Given the description of an element on the screen output the (x, y) to click on. 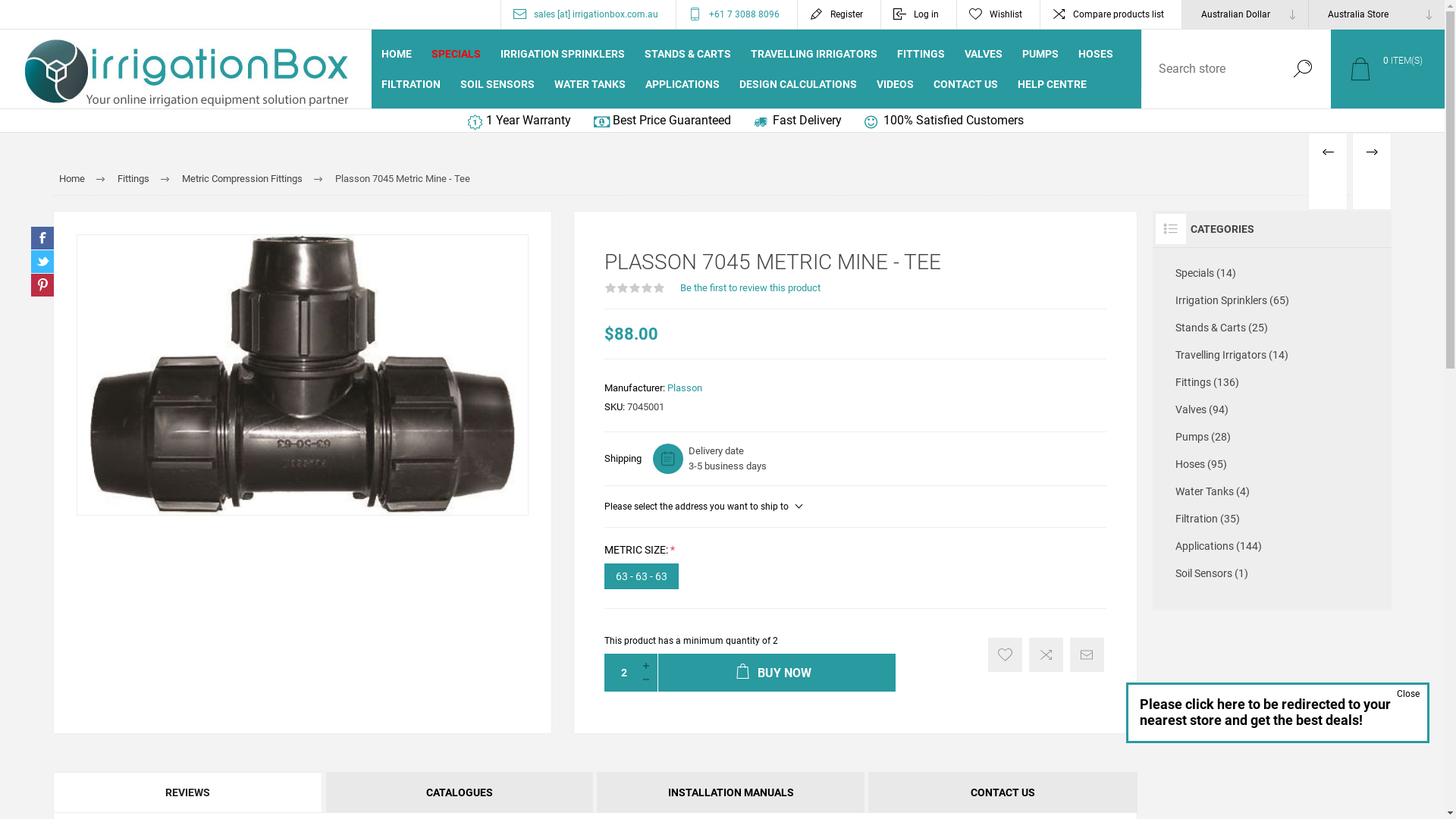
HOME Element type: text (396, 53)
Plasson 7045 Metric Mine - Tee Element type: hover (302, 374)
SPECIALS Element type: text (455, 53)
0 ITEM(S) Element type: text (1387, 68)
APPLICATIONS Element type: text (682, 84)
SOIL SENSORS Element type: text (497, 84)
REVIEWS Element type: text (187, 791)
CONTACT US Element type: text (965, 84)
INSTALLATION MANUALS Element type: text (729, 791)
PUMPS Element type: text (1040, 53)
Be the first to review this product Element type: text (750, 287)
Register Element type: text (838, 14)
HOSES Element type: text (1095, 53)
Share on Twitter Element type: text (42, 261)
CATALOGUES Element type: text (459, 791)
Log in Element type: text (918, 14)
Close Element type: text (1411, 691)
STANDS & CARTS Element type: text (687, 53)
VALVES Element type: text (983, 53)
DESIGN CALCULATIONS Element type: text (797, 84)
Share on Pinterest Element type: text (42, 284)
Hoses (95) Element type: text (1271, 463)
Wishlist Element type: text (998, 14)
CONTACT US Element type: text (1002, 791)
VIDEOS Element type: text (894, 84)
Soil Sensors (1) Element type: text (1271, 572)
TRAVELLING IRRIGATORS Element type: text (813, 53)
Fittings Element type: text (132, 178)
HELP CENTRE Element type: text (1051, 84)
FITTINGS Element type: text (920, 53)
sales [at] irrigationbox.com.au Element type: text (588, 14)
Add to compare list Element type: text (1046, 654)
Valves (94) Element type: text (1271, 409)
FILTRATION Element type: text (410, 84)
Please select the address you want to ship to Element type: text (702, 506)
Metric Compression Fittings Element type: text (242, 178)
Search Element type: text (1302, 68)
Stands & Carts (25) Element type: text (1271, 327)
BUY NOW Element type: text (776, 672)
Home Element type: text (71, 178)
WATER TANKS Element type: text (589, 84)
Irrigation Sprinklers (65) Element type: text (1271, 299)
+61 7 3088 8096 Element type: text (736, 14)
Specials (14) Element type: text (1271, 272)
Compare products list Element type: text (1110, 14)
Email a friend Element type: text (1087, 654)
Travelling Irrigators (14) Element type: text (1271, 354)
Pumps (28) Element type: text (1271, 436)
Add to wishlist Element type: text (1005, 654)
Applications (144) Element type: text (1271, 545)
Filtration (35) Element type: text (1271, 518)
Plasson Element type: text (684, 387)
Share on Facebook Element type: text (42, 237)
Water Tanks (4) Element type: text (1271, 491)
Fittings (136) Element type: text (1271, 381)
IRRIGATION SPRINKLERS Element type: text (562, 53)
